Given the description of an element on the screen output the (x, y) to click on. 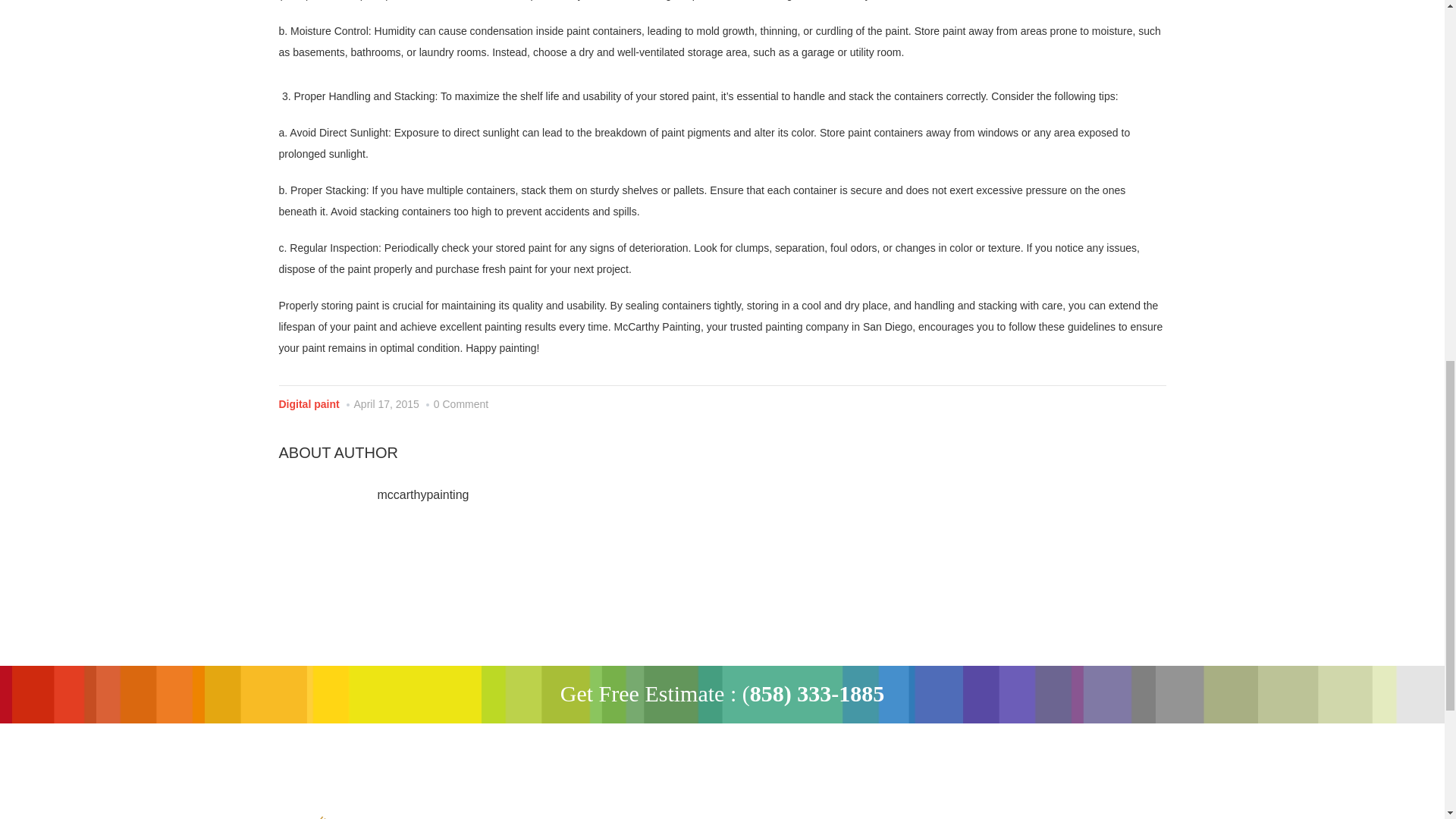
mccarthypainting (422, 494)
Digital paint (309, 403)
